Given the description of an element on the screen output the (x, y) to click on. 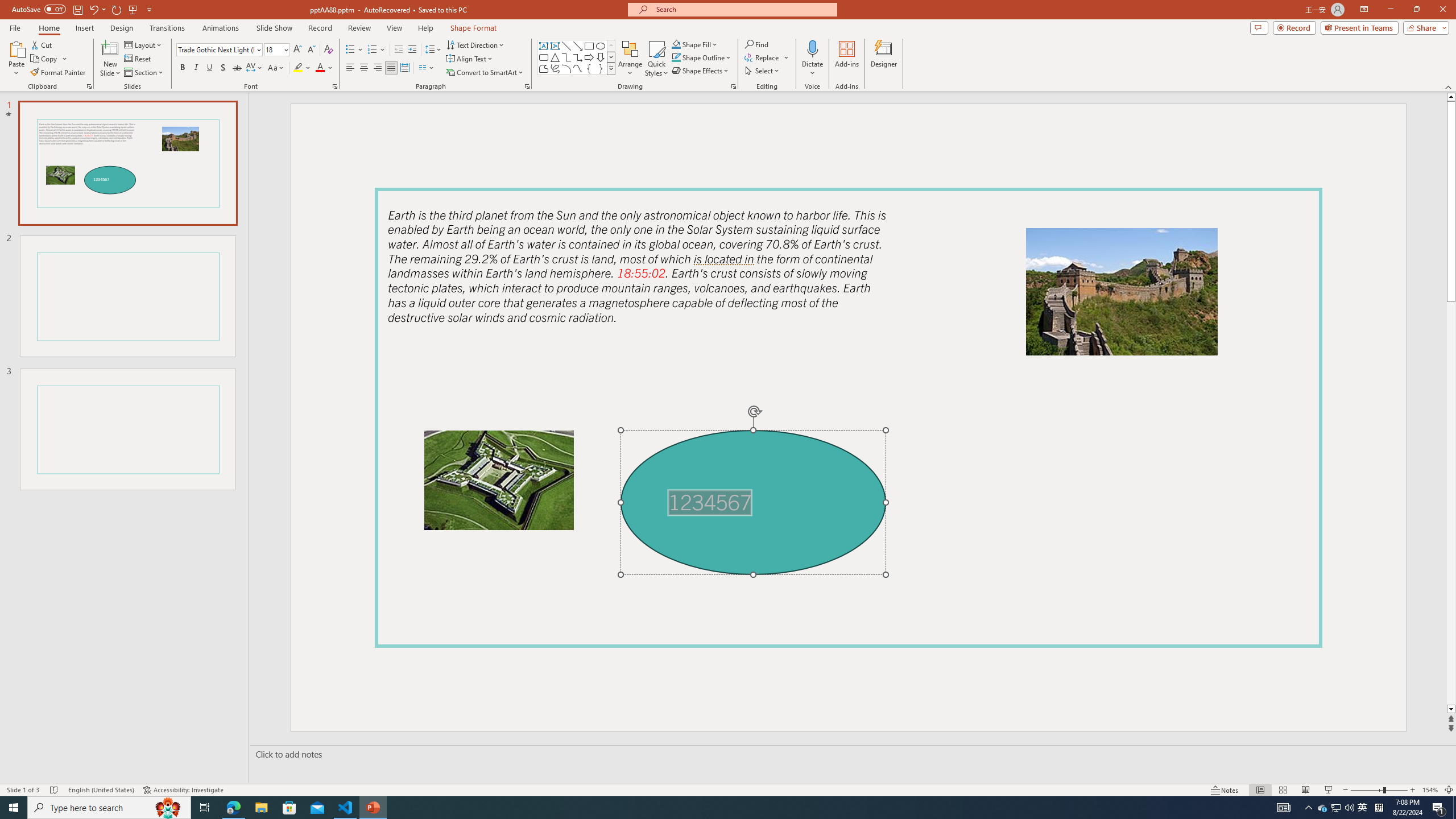
Shape Outline Teal, Accent 1 (675, 56)
